Given the description of an element on the screen output the (x, y) to click on. 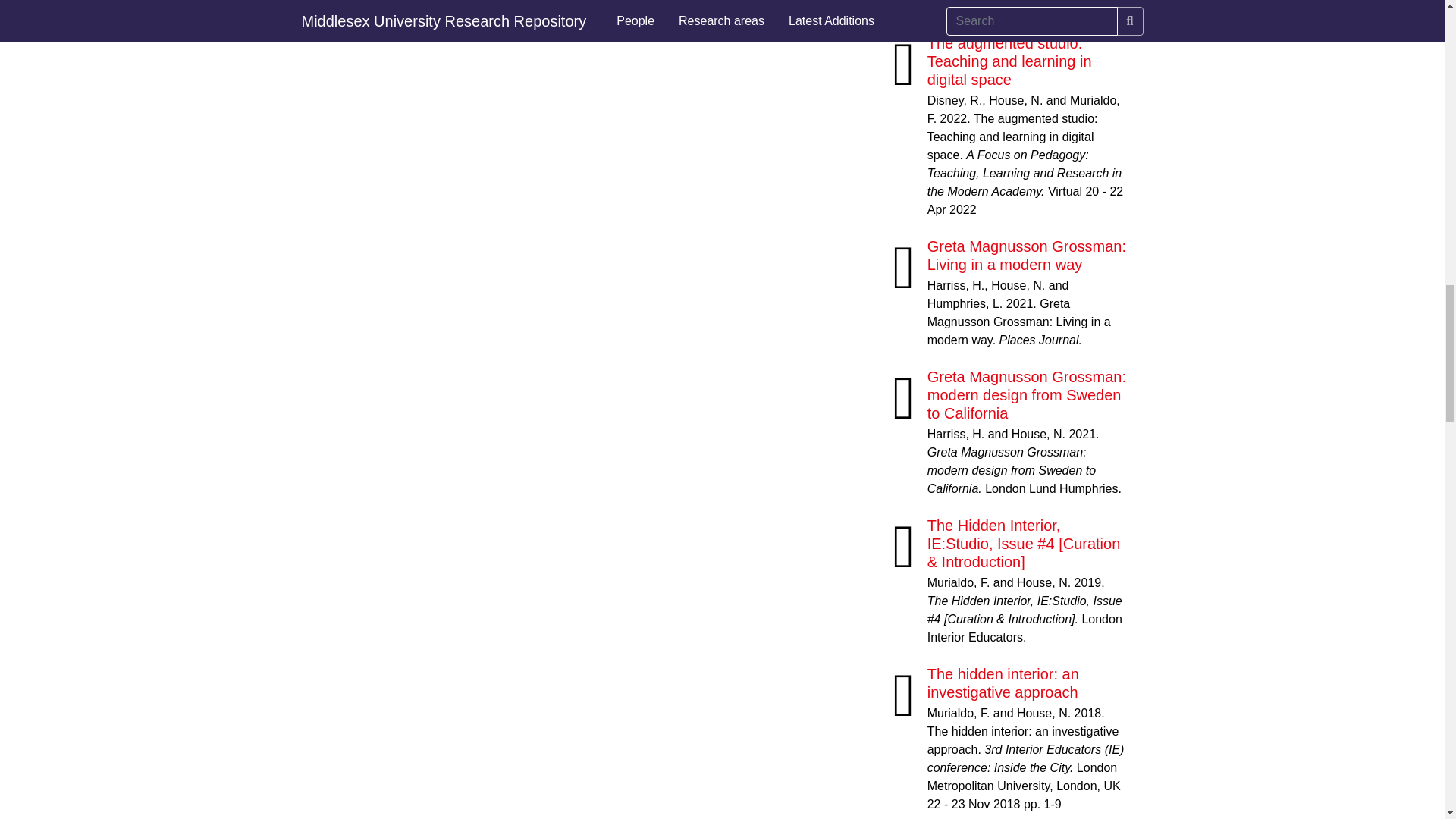
The augmented studio: Teaching and learning in digital space (1009, 61)
Greta Magnusson Grossman: Living in a modern way (1026, 255)
The hidden interior: an investigative approach (1002, 683)
